Given the description of an element on the screen output the (x, y) to click on. 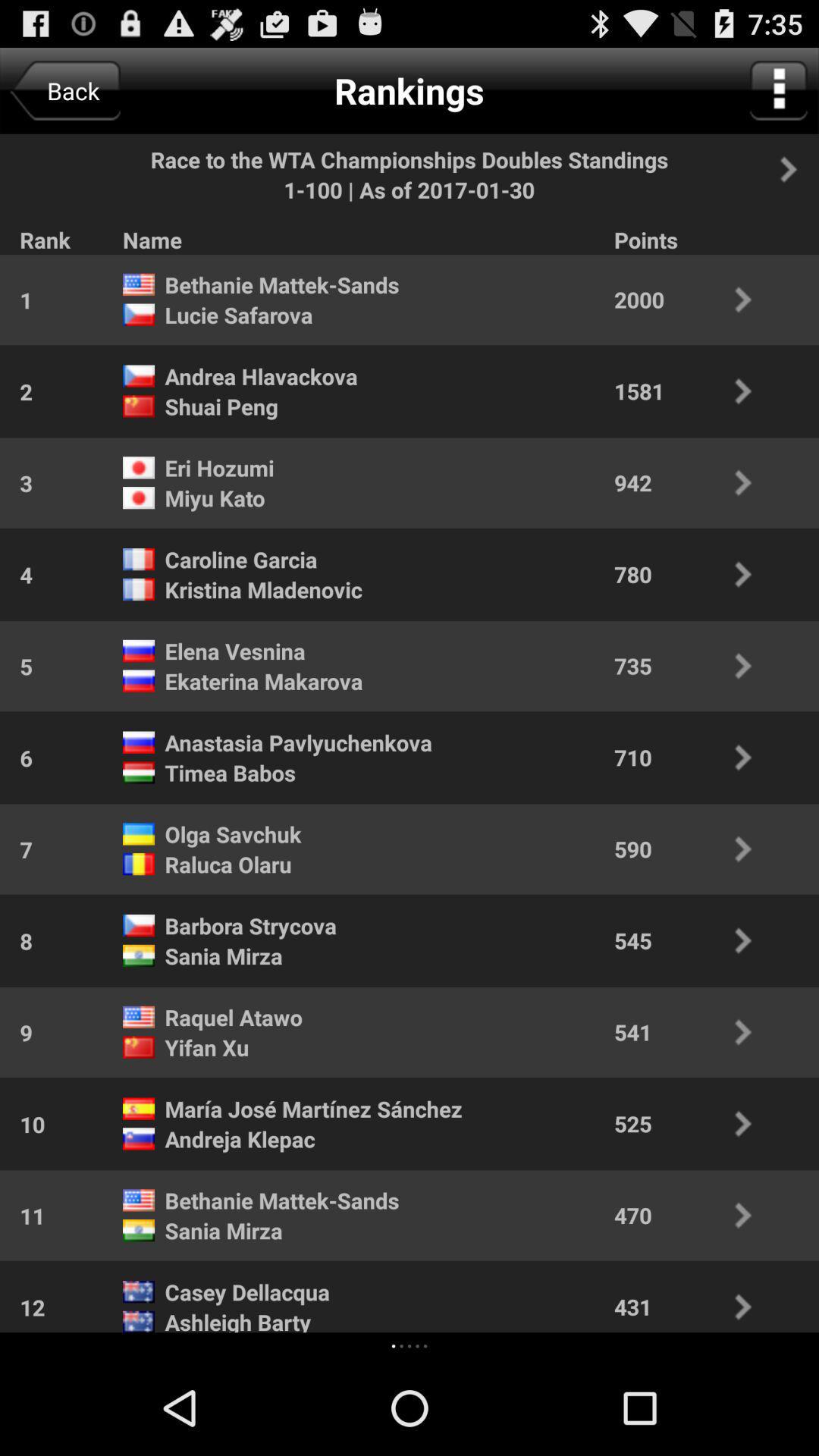
go to next panel (797, 169)
